Given the description of an element on the screen output the (x, y) to click on. 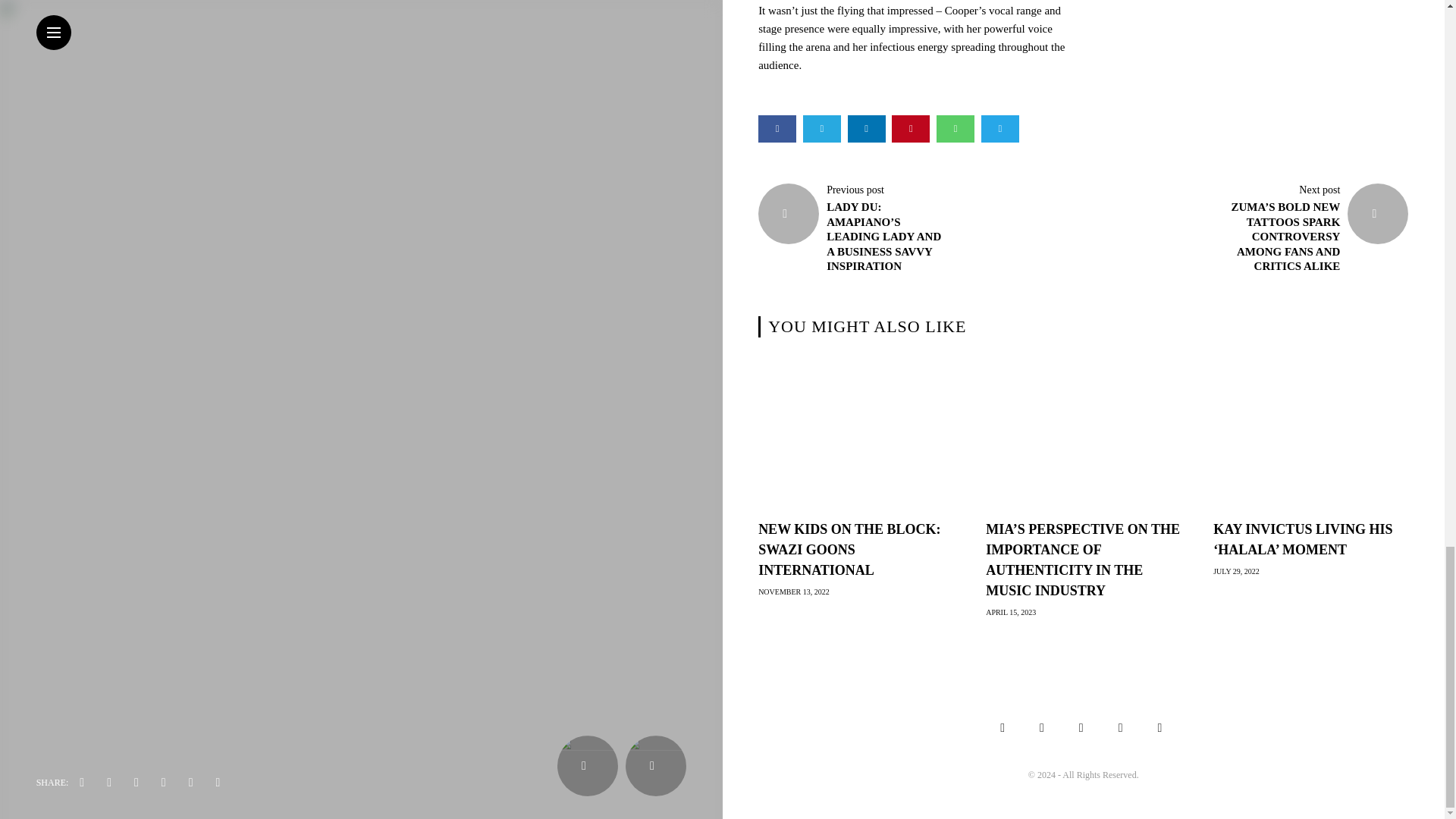
facebook (777, 128)
